Given the description of an element on the screen output the (x, y) to click on. 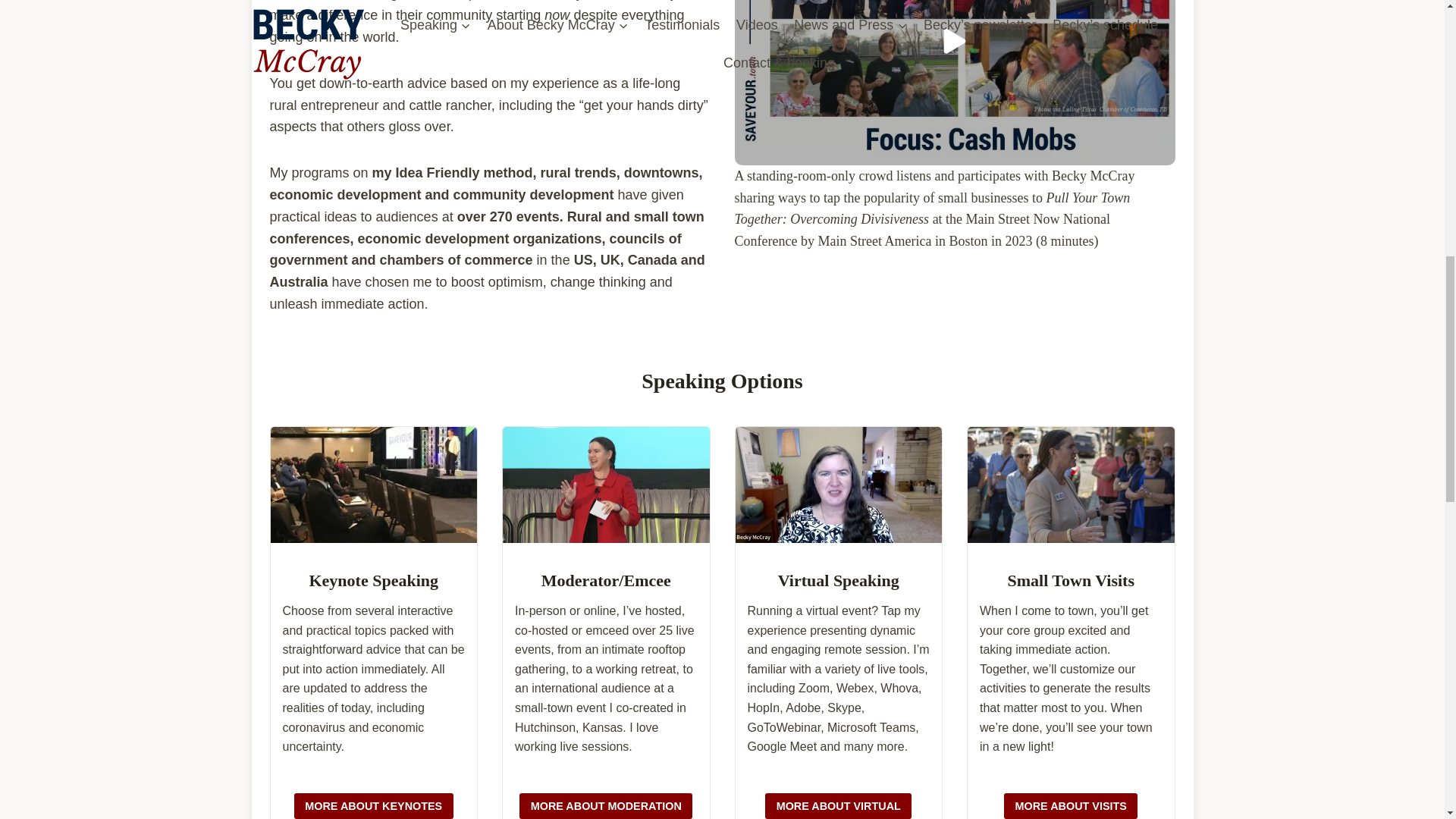
MORE ABOUT VISITS (1070, 806)
MORE ABOUT VIRTUAL (838, 806)
MORE ABOUT KEYNOTES (373, 806)
MORE ABOUT MODERATION (606, 806)
